Given the description of an element on the screen output the (x, y) to click on. 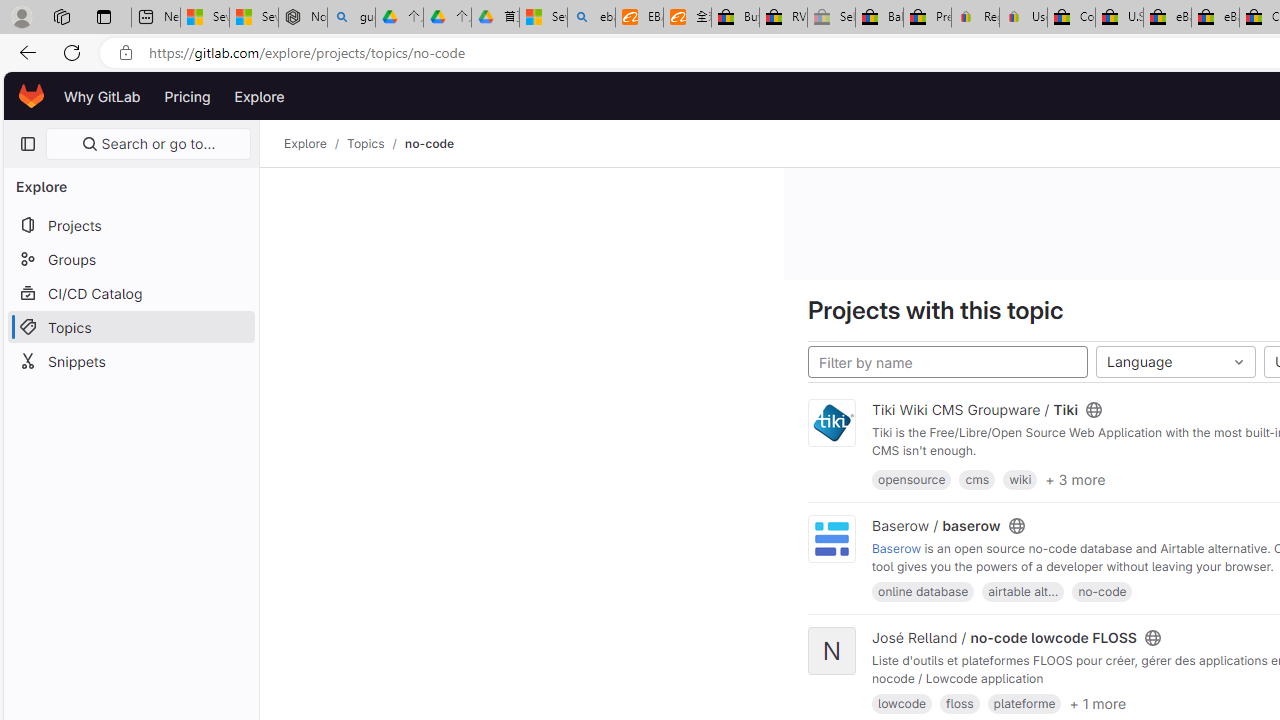
Press Room - eBay Inc. (927, 17)
Explore/ (316, 143)
Class: project (831, 538)
floss (959, 703)
Snippets (130, 360)
Baserow / baserow (935, 525)
Baby Keepsakes & Announcements for sale | eBay (879, 17)
Groups (130, 259)
U.S. State Privacy Disclosures - eBay Inc. (1119, 17)
Class: s16 dropdown-menu-toggle-icon (1238, 362)
Class: s16 (1152, 638)
Topics (130, 326)
